Given the description of an element on the screen output the (x, y) to click on. 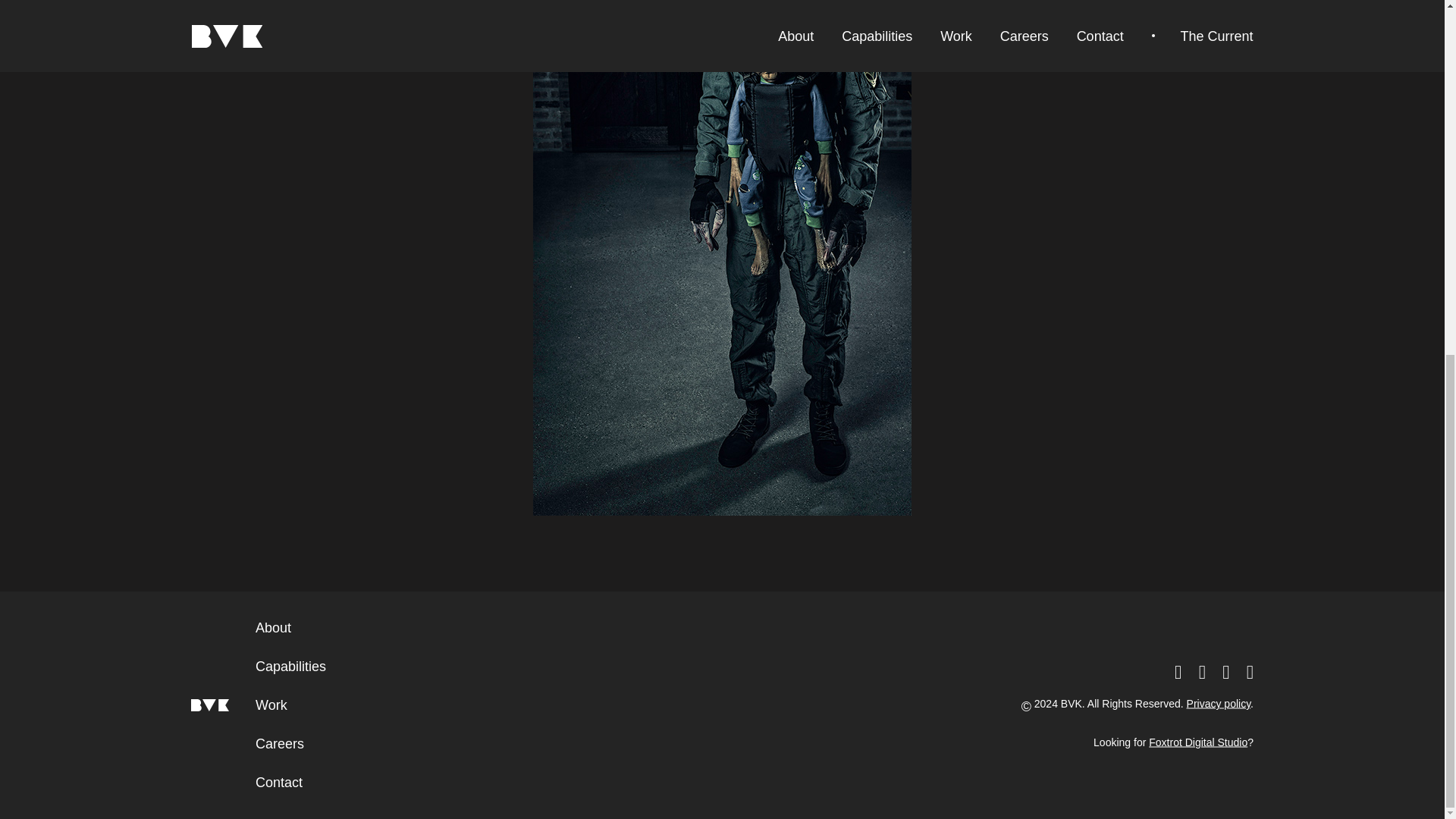
About (273, 627)
Capabilities (291, 666)
Contact (279, 782)
Careers (280, 743)
Privacy policy (1218, 703)
Work (271, 704)
Foxtrot Digital Studio (1197, 741)
